Given the description of an element on the screen output the (x, y) to click on. 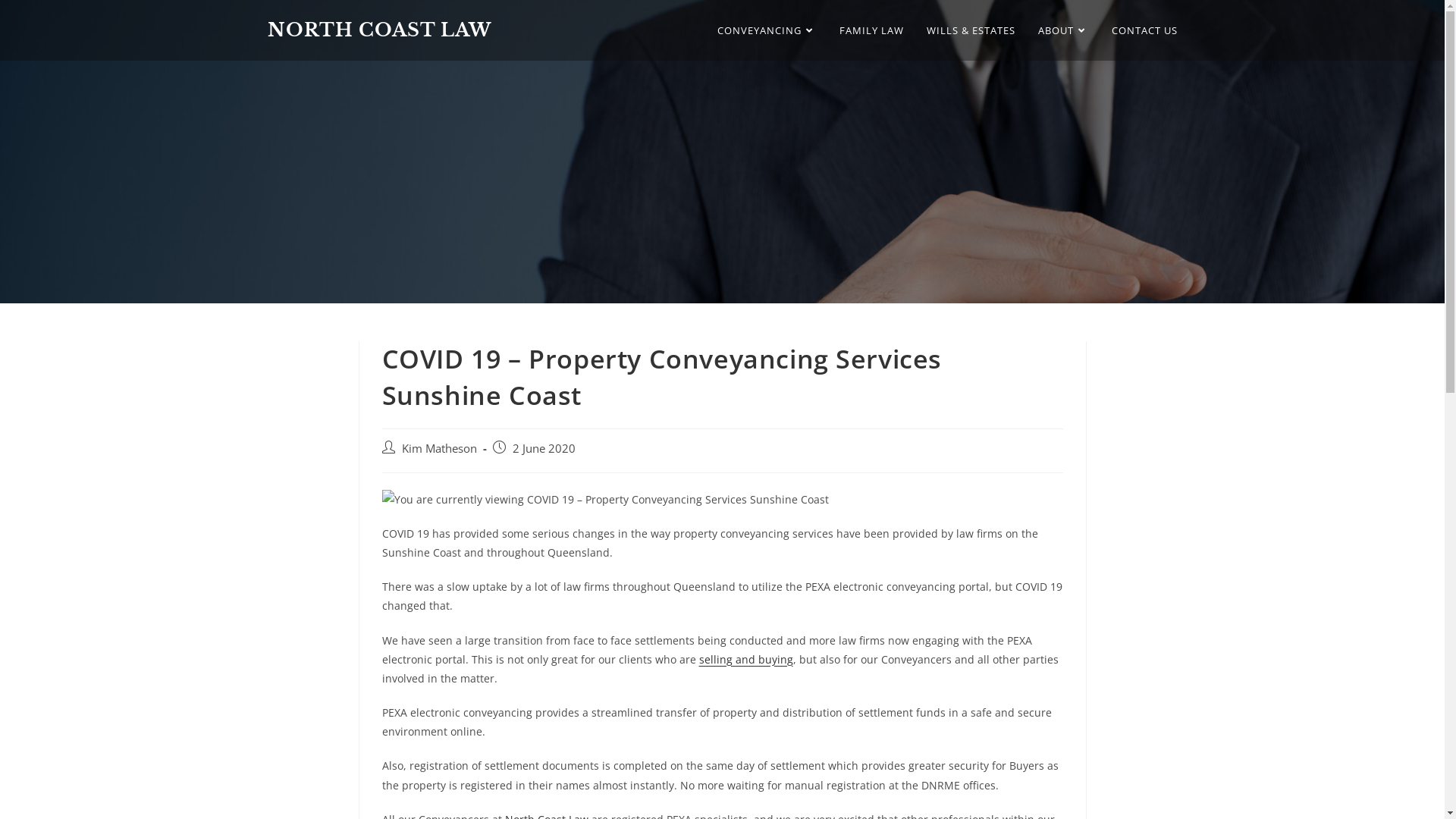
ABOUT Element type: text (1063, 30)
Kim Matheson Element type: text (438, 448)
FAMILY LAW Element type: text (871, 30)
WILLS & ESTATES Element type: text (970, 30)
CONTACT US Element type: text (1143, 30)
NORTH COAST LAW Element type: text (378, 29)
CONVEYANCING Element type: text (766, 30)
selling and buying Element type: text (746, 659)
